Given the description of an element on the screen output the (x, y) to click on. 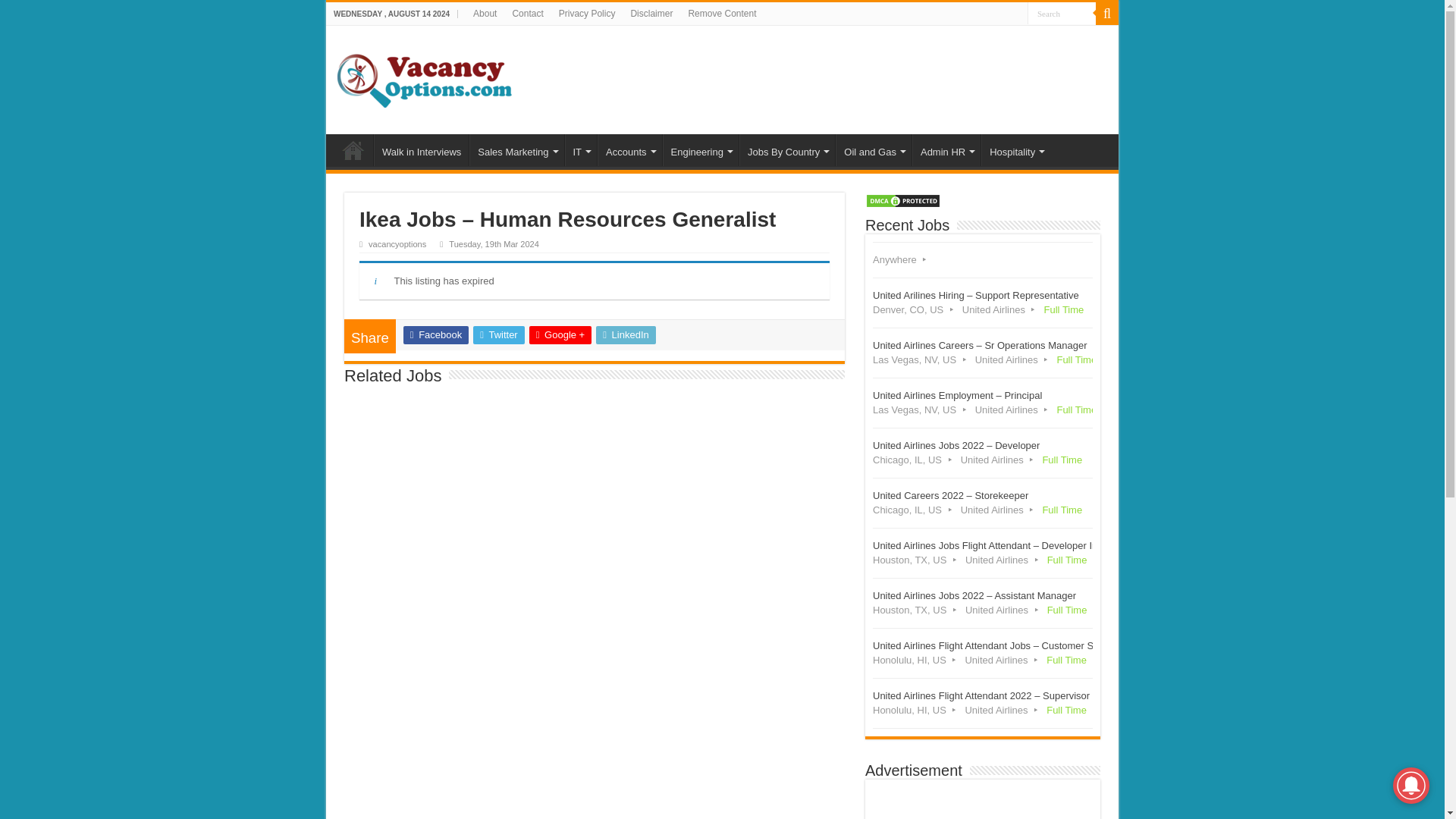
Search (1061, 13)
Advertisement (982, 803)
Search (1061, 13)
Latest Job Vacancies in the USA, UK and Worldwide (424, 76)
Search (1061, 13)
Content Protection by DMCA.com (902, 199)
